Given the description of an element on the screen output the (x, y) to click on. 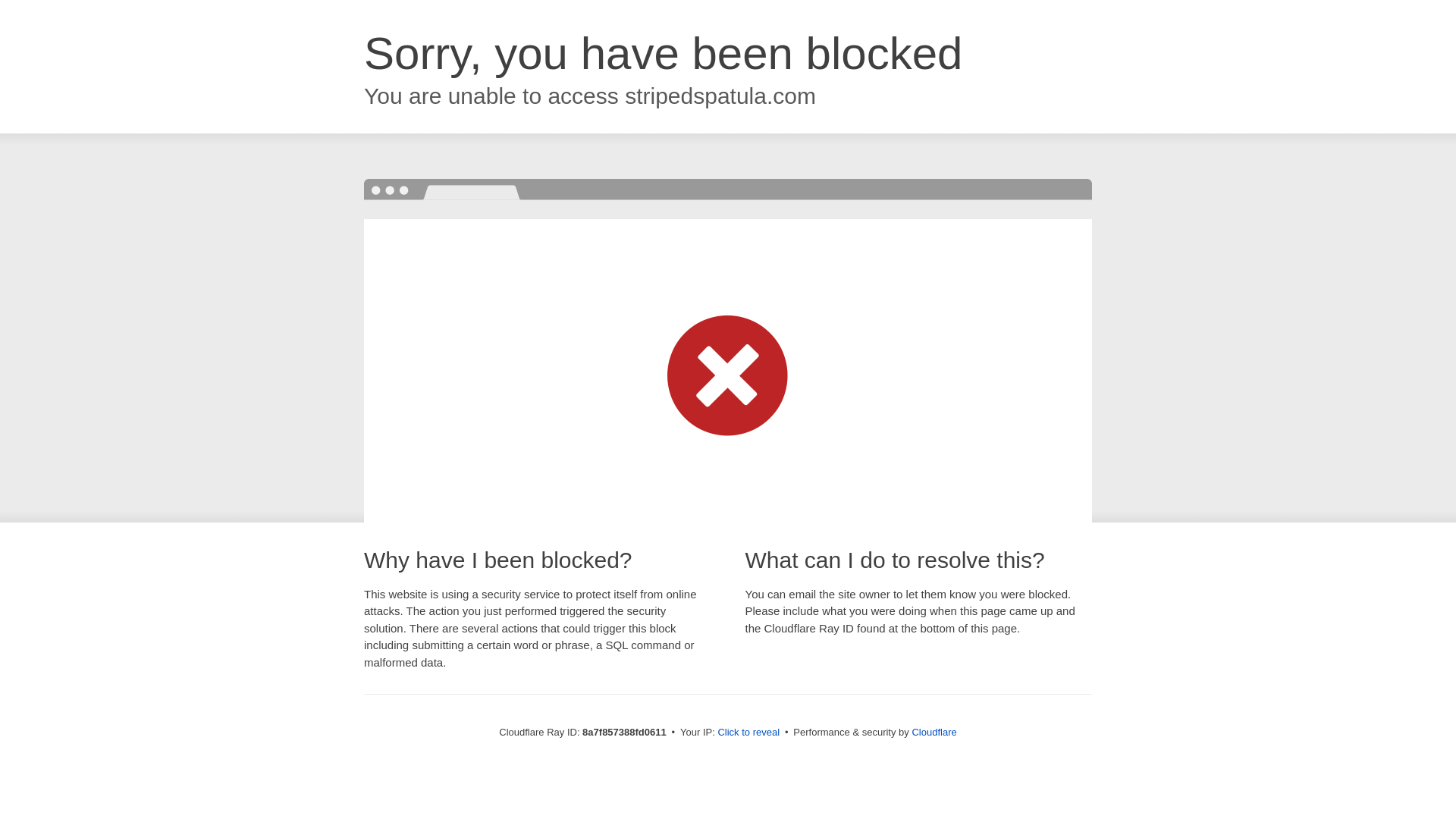
Click to reveal (747, 732)
Cloudflare (933, 731)
